Given the description of an element on the screen output the (x, y) to click on. 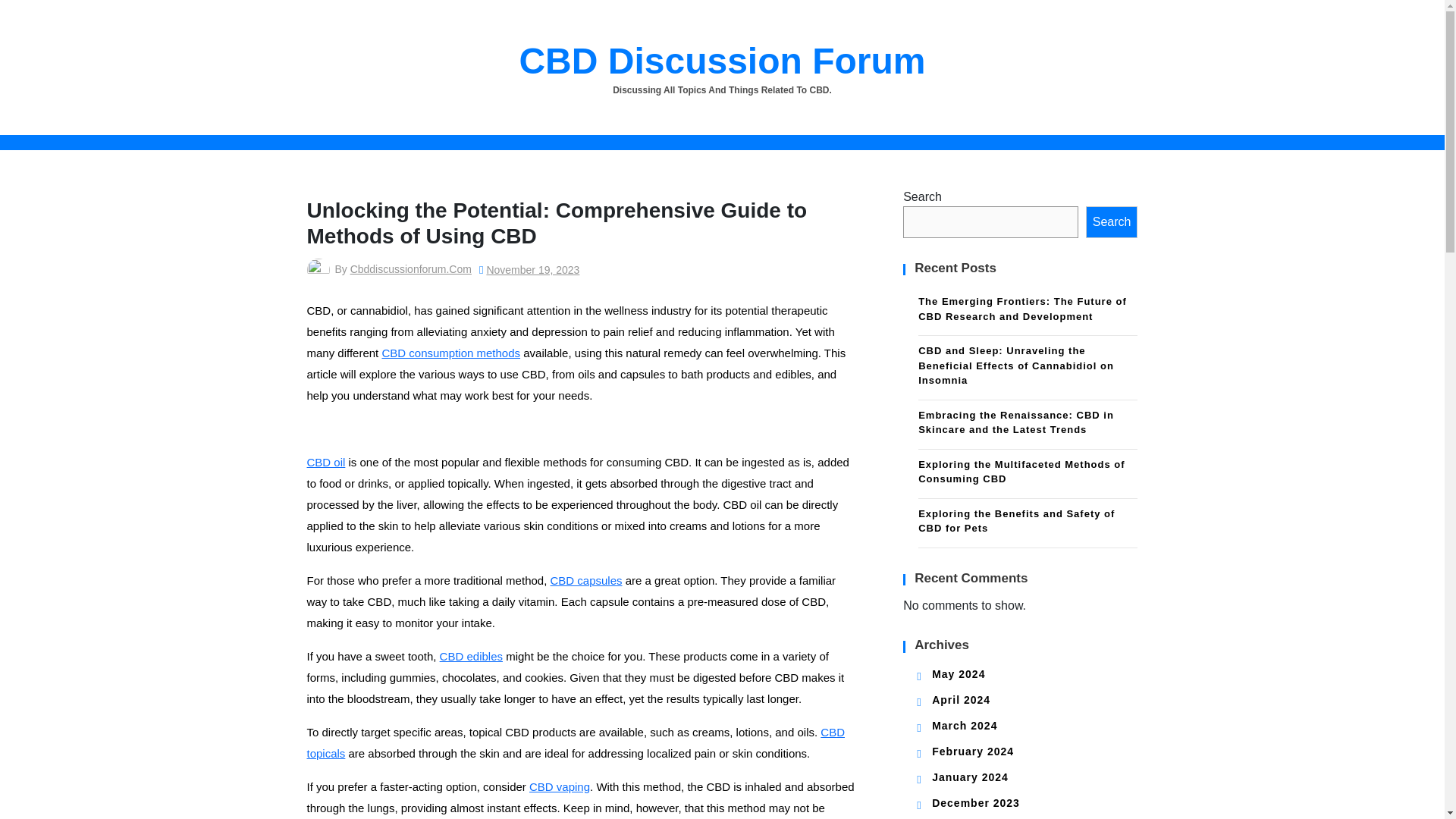
CBD oil (325, 461)
Cbddiscussionforum.Com (410, 268)
CBD vaping (559, 786)
CBD edibles (470, 656)
CBD consumption methods (450, 352)
Exploring the Multifaceted Methods of Consuming CBD (1027, 473)
Search (1112, 222)
CBD capsules (586, 580)
